Given the description of an element on the screen output the (x, y) to click on. 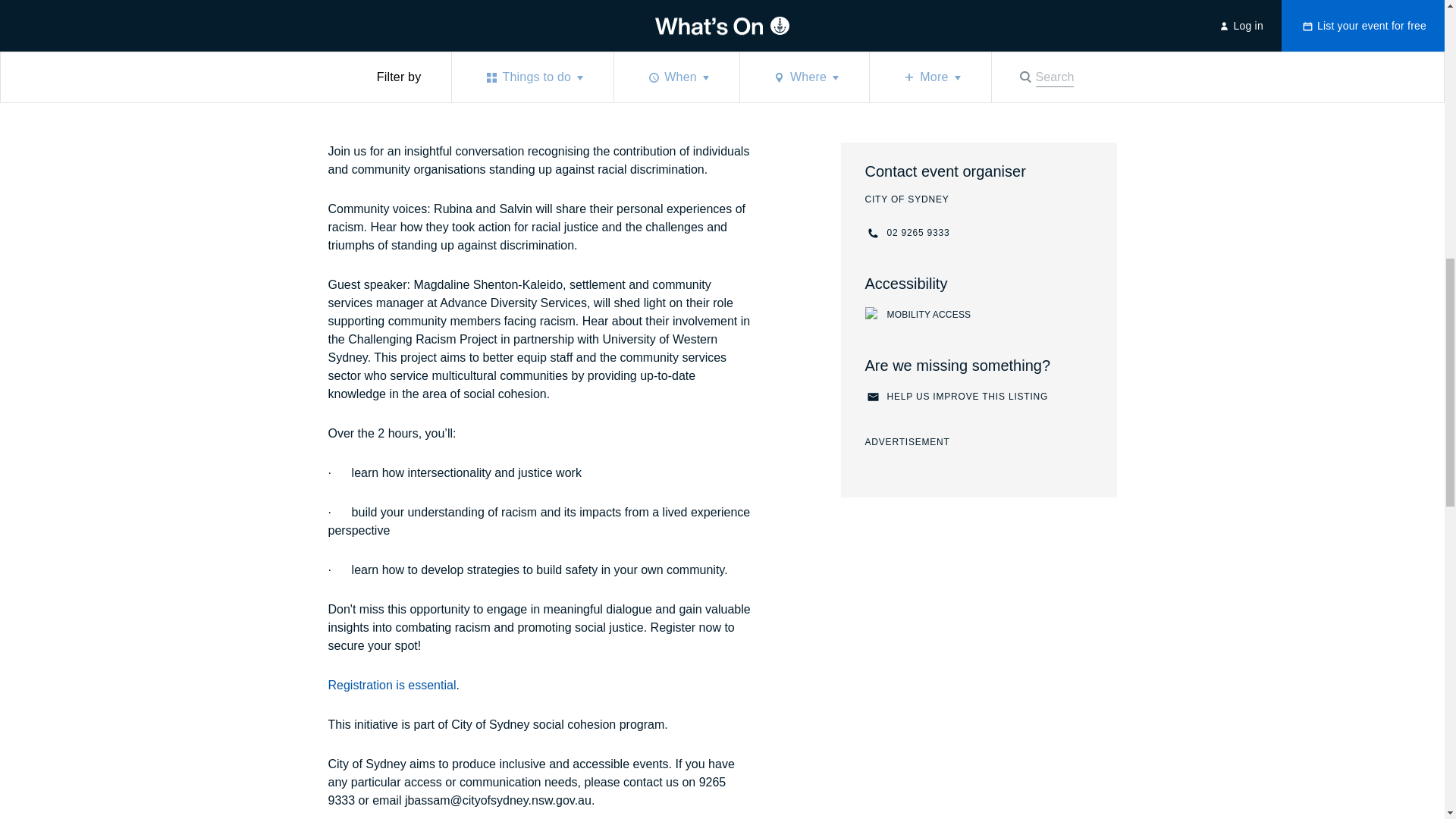
MOBILITY ACCESS (978, 315)
Registration is essential (391, 685)
Get directions (373, 40)
Book tickets (373, 40)
